Given the description of an element on the screen output the (x, y) to click on. 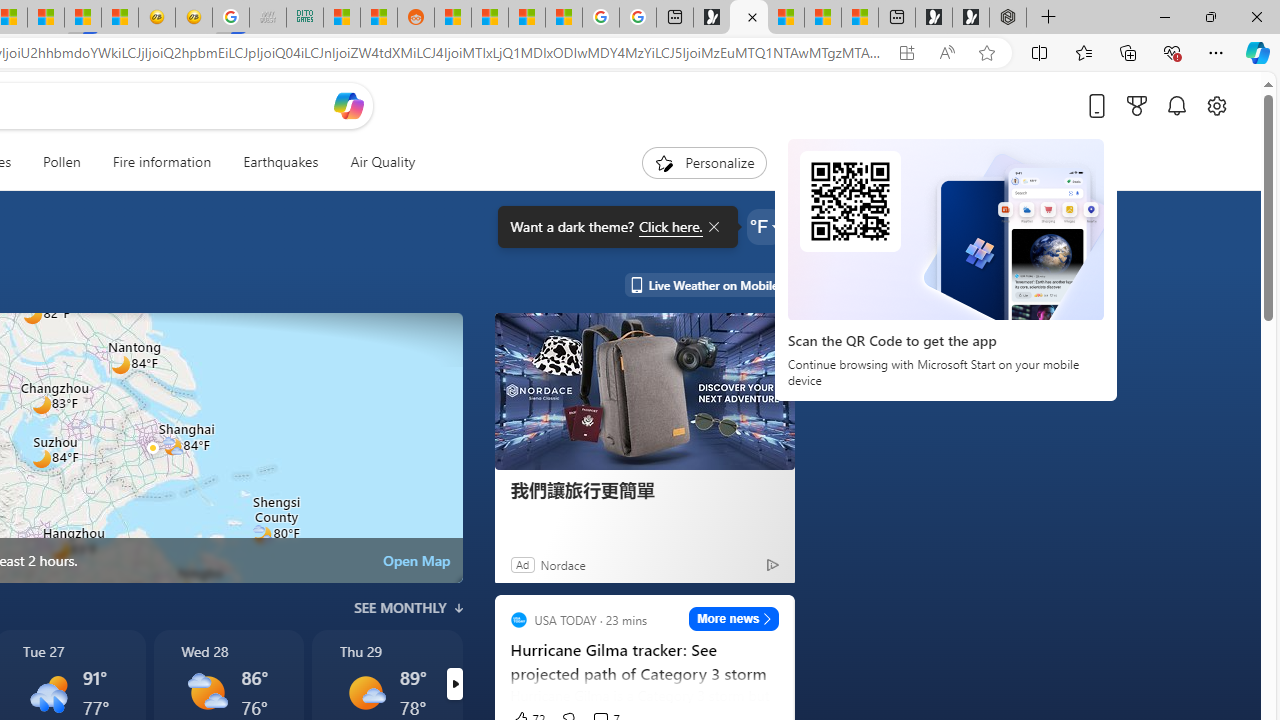
Partly sunny (206, 692)
Air Quality (382, 162)
More news (733, 618)
Earthquakes (280, 162)
App available. Install Microsoft Start Weather (906, 53)
Air Quality (375, 162)
Weather settings Want a dark theme?Click here. (764, 226)
